Given the description of an element on the screen output the (x, y) to click on. 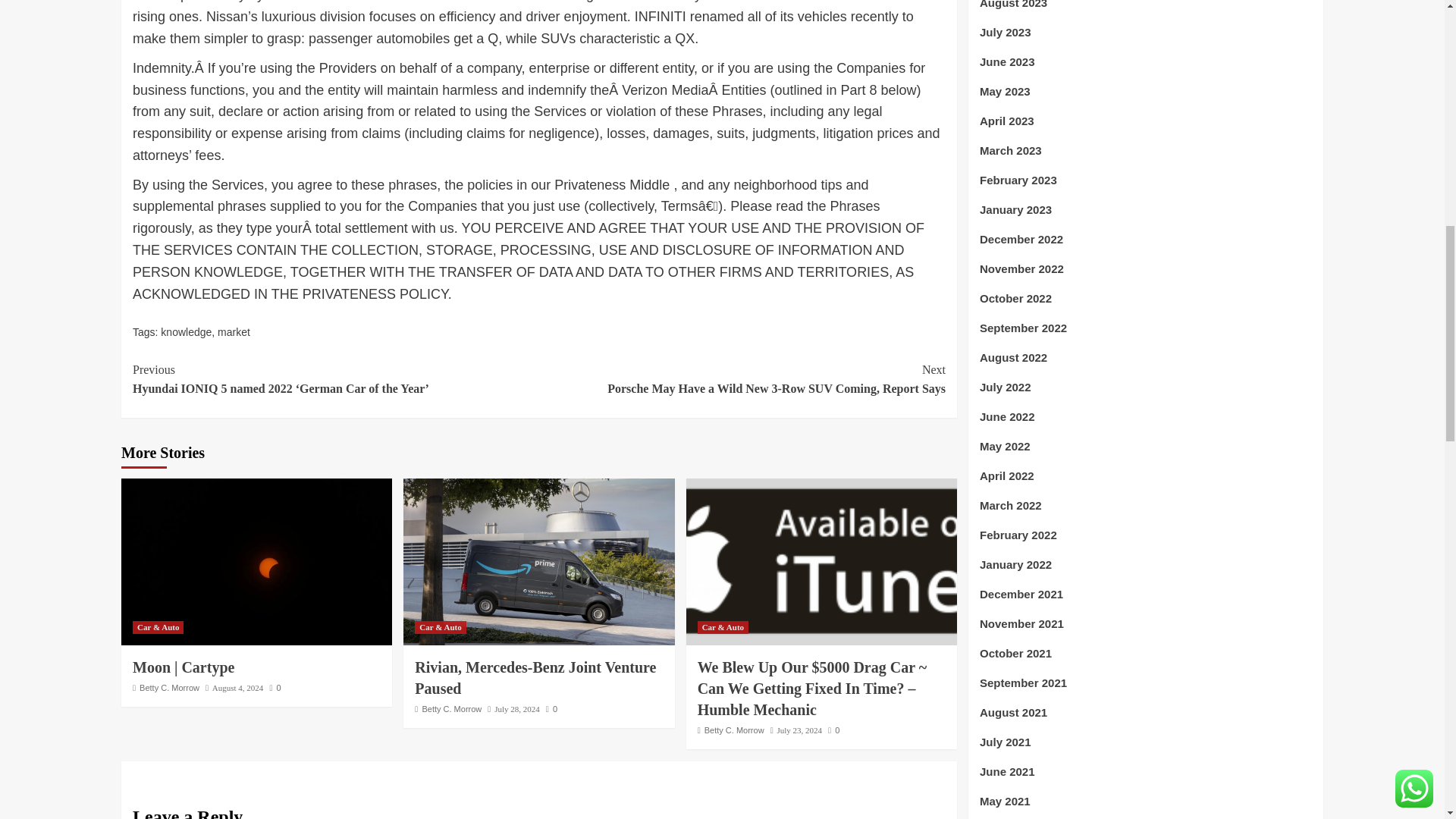
Rivian, Mercedes-Benz Joint Venture Paused (535, 677)
July 28, 2024 (517, 708)
Rivian, Mercedes-Benz Joint Venture Paused (538, 561)
Betty C. Morrow (451, 708)
Betty C. Morrow (169, 687)
market (233, 331)
August 4, 2024 (237, 687)
0 (275, 687)
knowledge (185, 331)
